Given the description of an element on the screen output the (x, y) to click on. 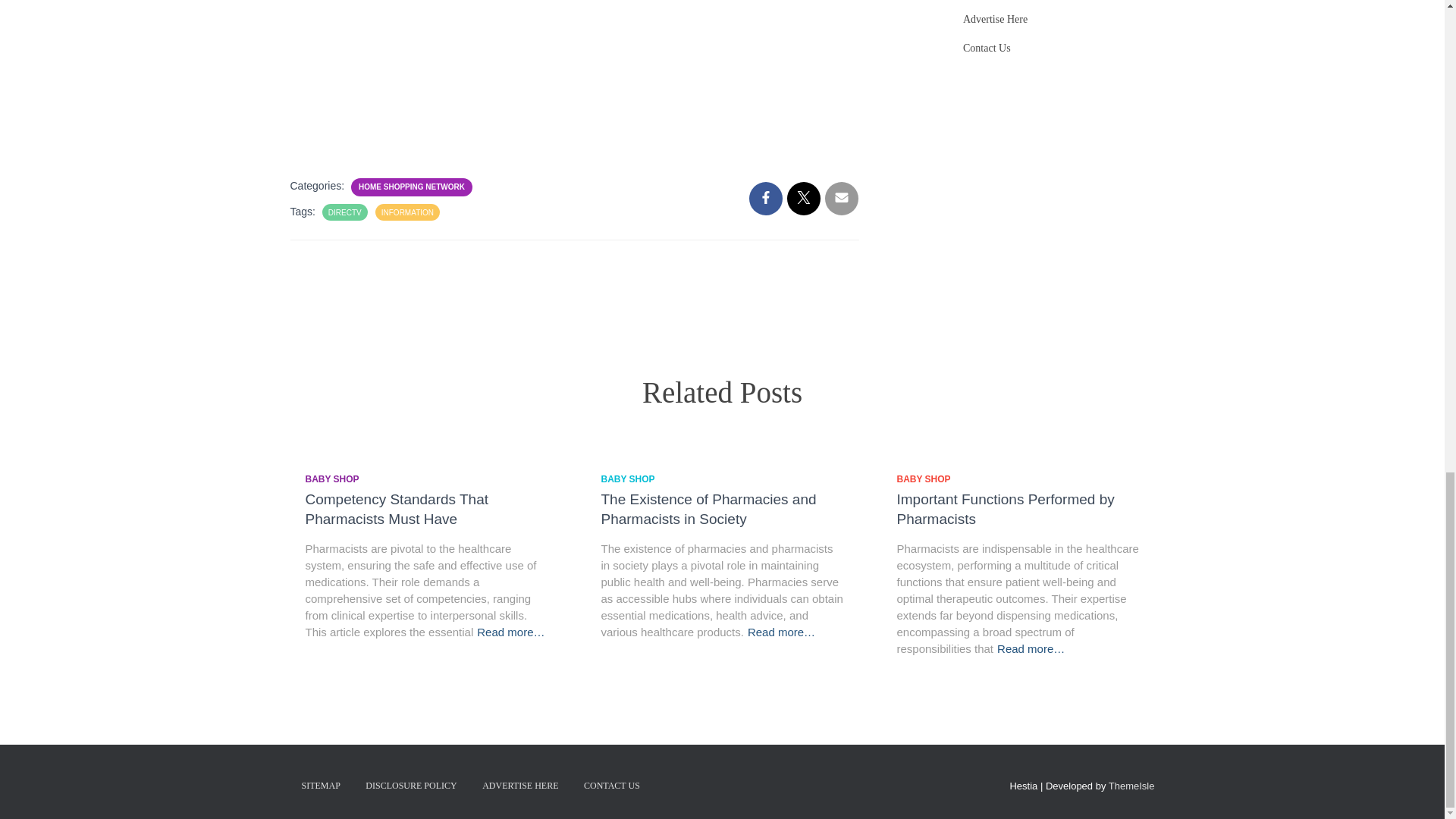
DIRECTV (345, 212)
HOME SHOPPING NETWORK (411, 186)
INFORMATION (407, 212)
